Given the description of an element on the screen output the (x, y) to click on. 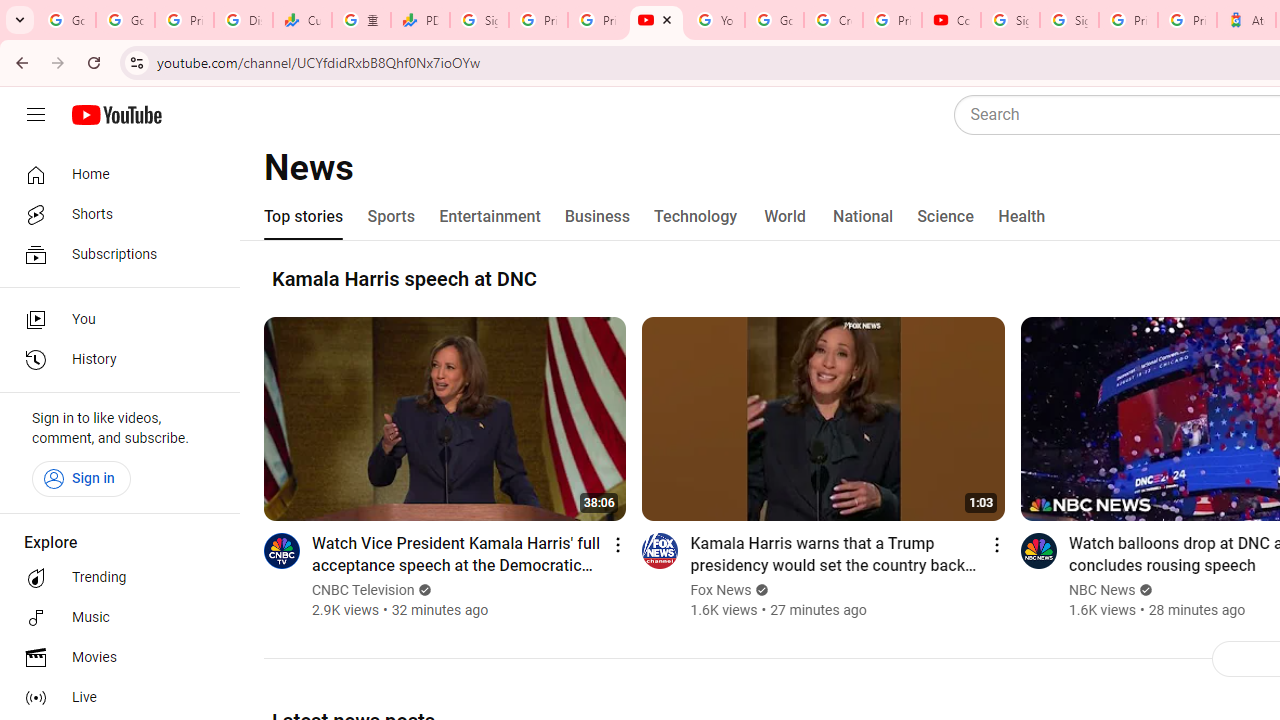
Trending (113, 578)
Science (945, 216)
Currencies - Google Finance (301, 20)
Create your Google Account (832, 20)
NBC News (1101, 590)
Health (1021, 216)
CNBC Television (364, 590)
National (863, 216)
Sign in - Google Accounts (479, 20)
Privacy Checkup (597, 20)
Google Account Help (774, 20)
Content Creator Programs & Opportunities - YouTube Creators (950, 20)
